Given the description of an element on the screen output the (x, y) to click on. 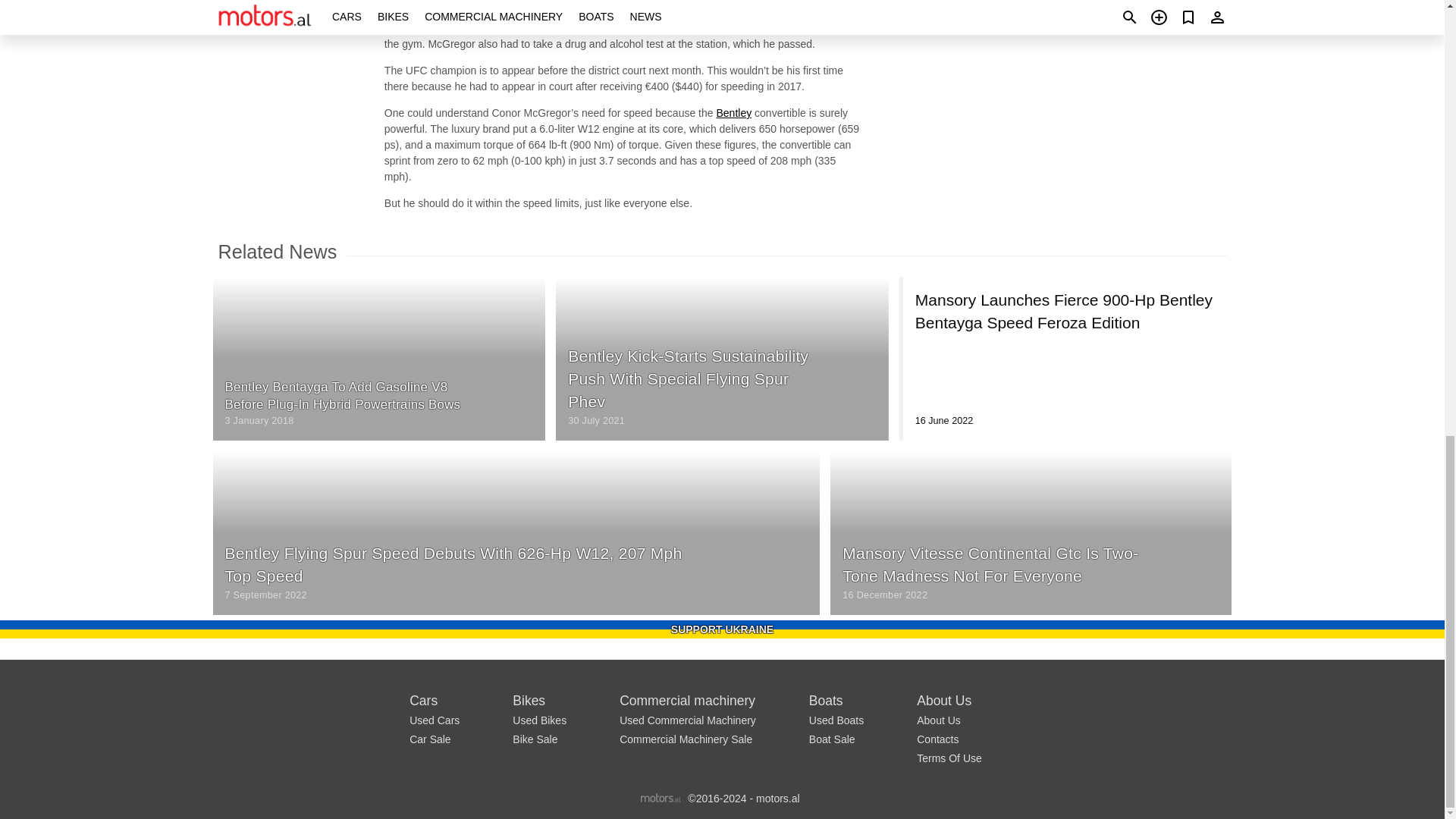
Commercial Machinery Sale (686, 739)
Used Cars (434, 720)
Boat Sale (832, 739)
Used Commercial Machinery (687, 720)
motors.al - Albania (660, 798)
Contacts (937, 739)
Used Boats (836, 720)
Bike Sale (534, 739)
Terms Of Use (949, 758)
Car Sale (429, 739)
all about Bentley in Albania (733, 112)
